Given the description of an element on the screen output the (x, y) to click on. 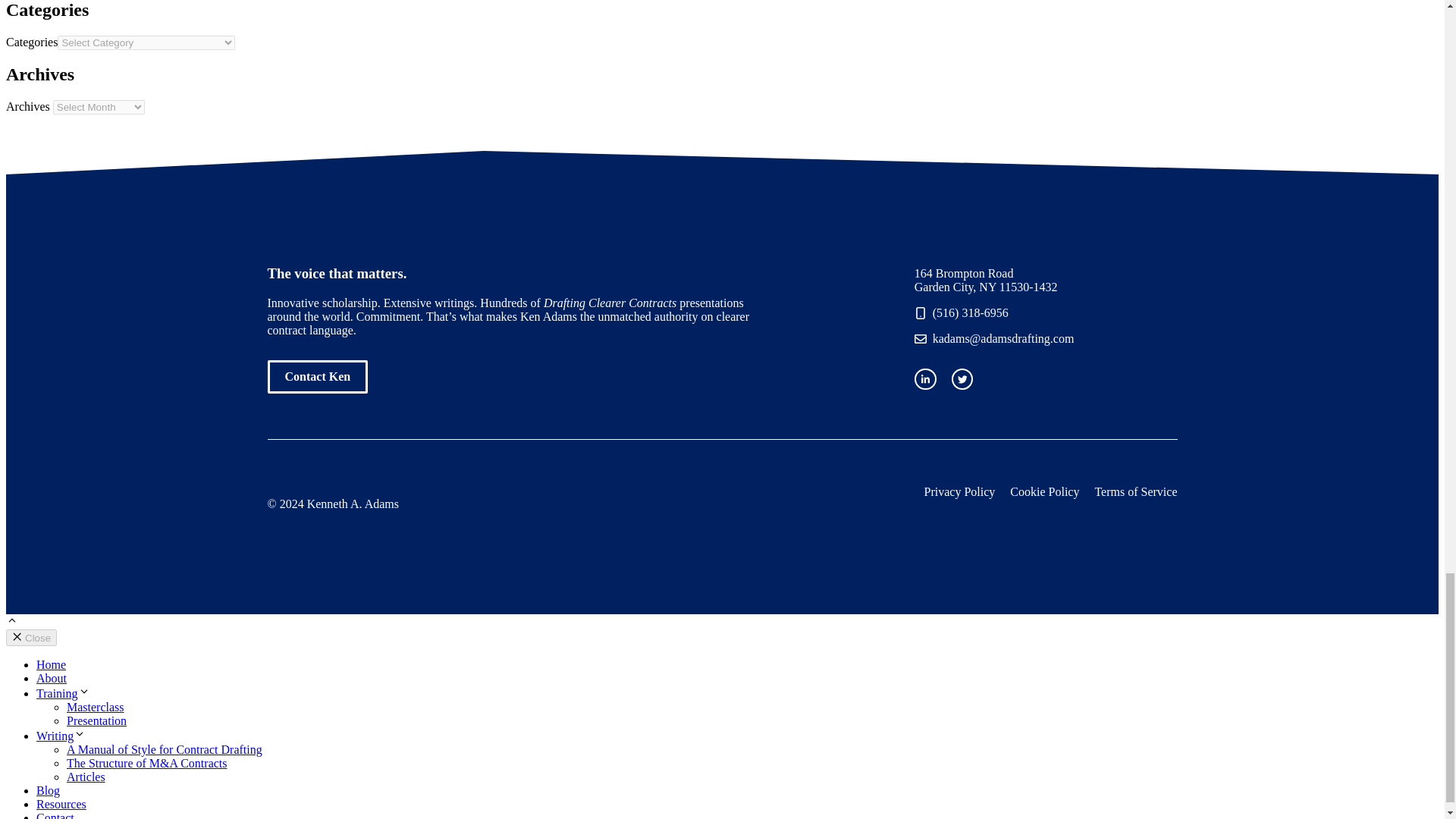
Contact Ken (317, 376)
Scroll back to top (11, 621)
Privacy Policy (959, 491)
